Given the description of an element on the screen output the (x, y) to click on. 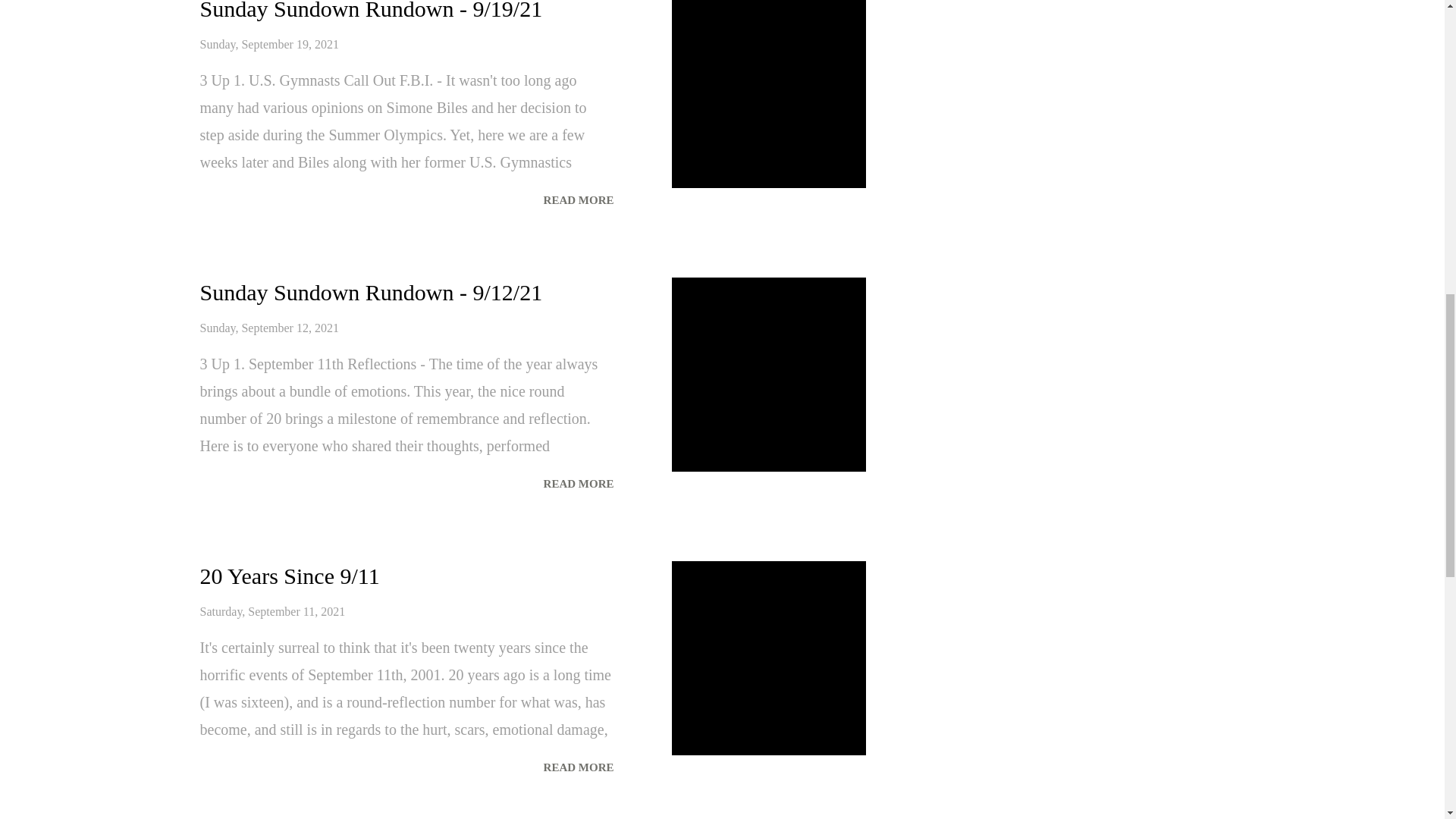
READ MORE (578, 483)
permanent link (273, 611)
Saturday, September 11, 2021 (273, 611)
Sunday, September 12, 2021 (269, 327)
permanent link (269, 327)
permanent link (269, 43)
READ MORE (578, 200)
Sunday, September 19, 2021 (269, 43)
READ MORE (578, 767)
